Given the description of an element on the screen output the (x, y) to click on. 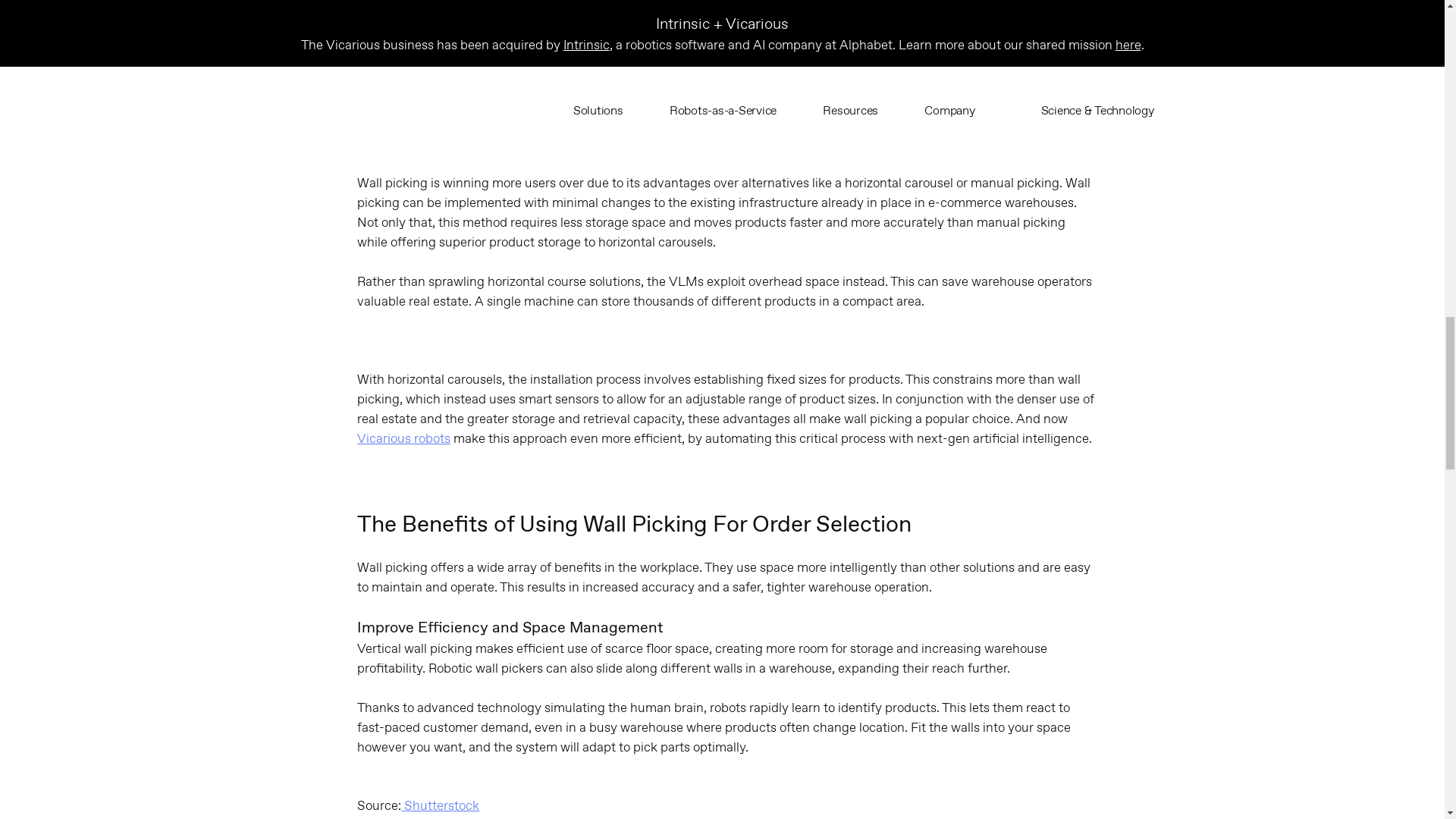
Vicarious robots (402, 437)
Shutterstock (440, 805)
